Given the description of an element on the screen output the (x, y) to click on. 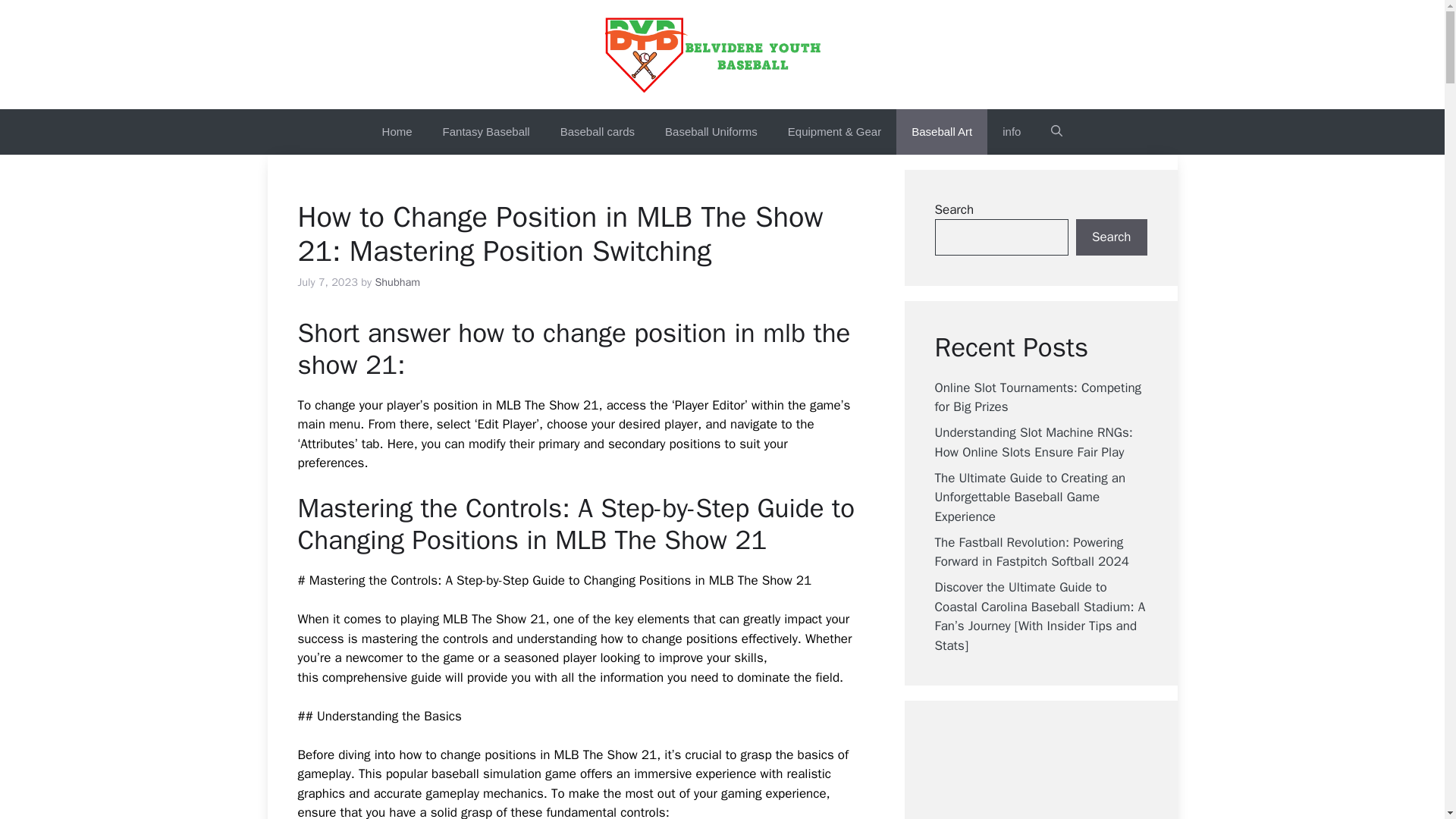
Baseball Art (941, 131)
Baseball cards (596, 131)
Baseball Uniforms (711, 131)
info (1011, 131)
Fantasy Baseball (486, 131)
Search (1111, 237)
Shubham (397, 282)
Online Slot Tournaments: Competing for Big Prizes (1037, 397)
Advertisement (1066, 775)
View all posts by Shubham (397, 282)
Home (397, 131)
